Given the description of an element on the screen output the (x, y) to click on. 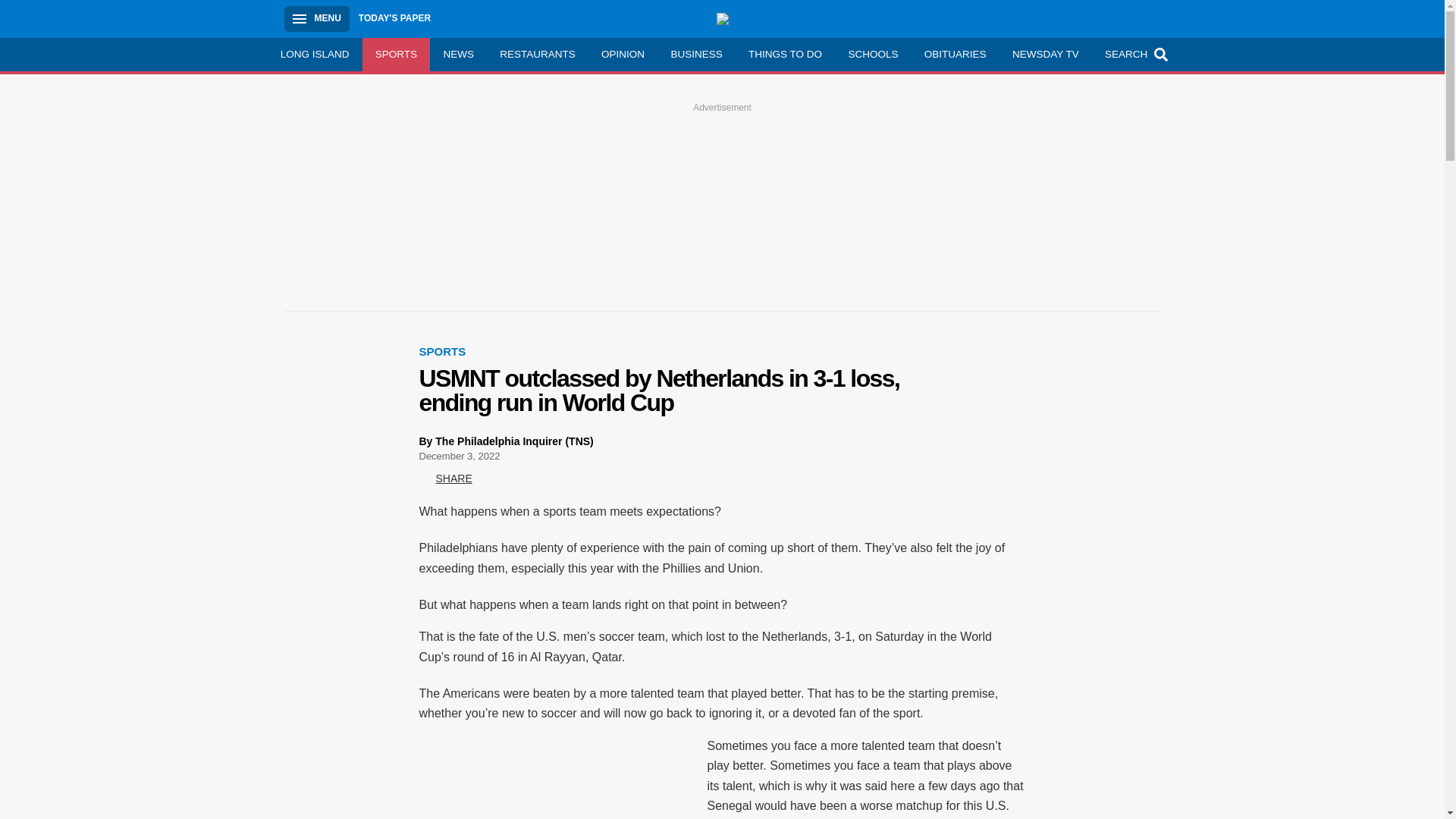
LONG ISLAND (313, 54)
SPORTS (442, 350)
SHARE (445, 479)
OBITUARIES (954, 54)
NEWSDAY TV (1045, 54)
NEWS (457, 54)
MENU (316, 18)
SPORTS (396, 54)
THINGS TO DO (784, 54)
OPINION (623, 54)
